Given the description of an element on the screen output the (x, y) to click on. 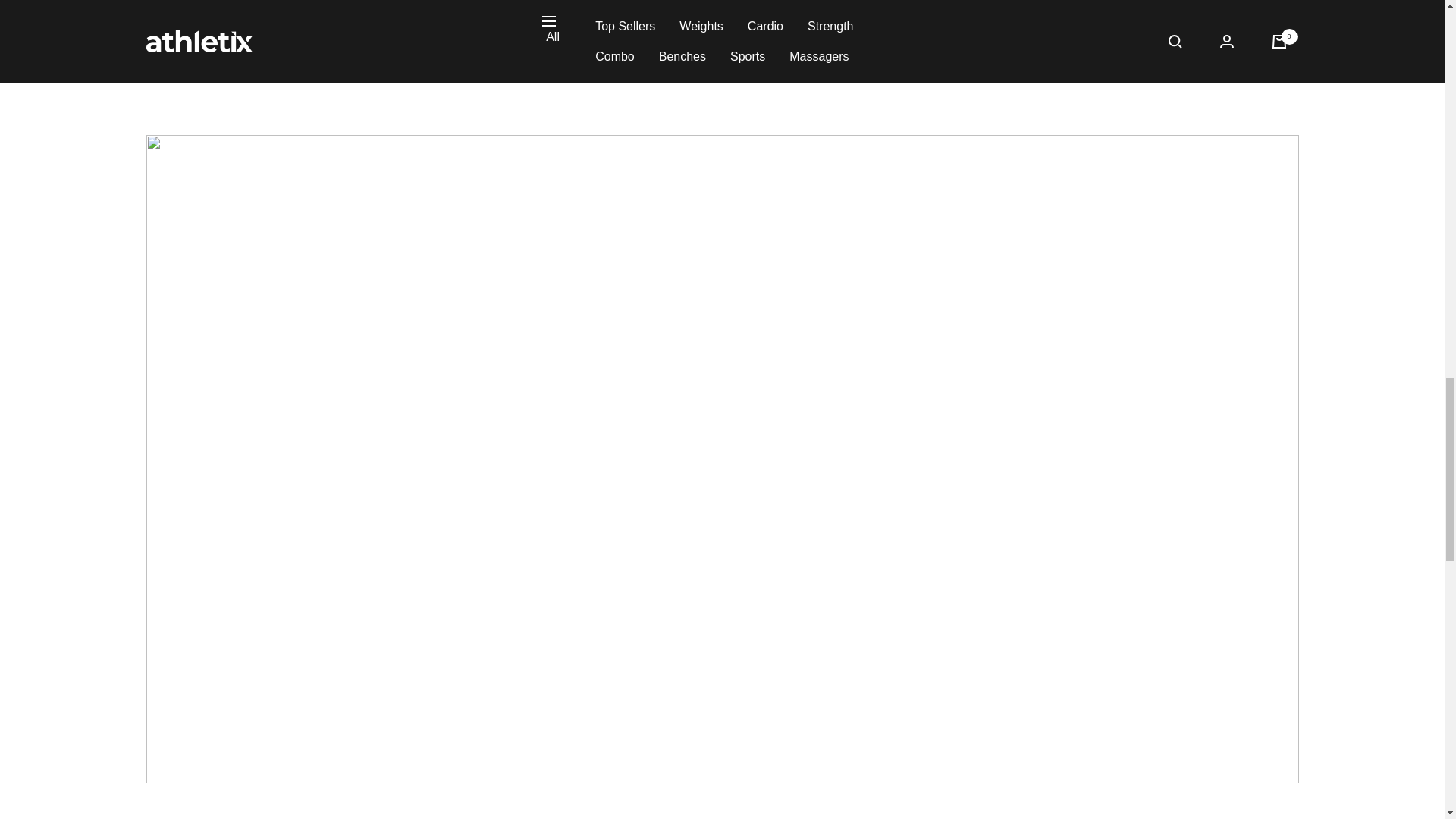
Play video (721, 456)
